Given the description of an element on the screen output the (x, y) to click on. 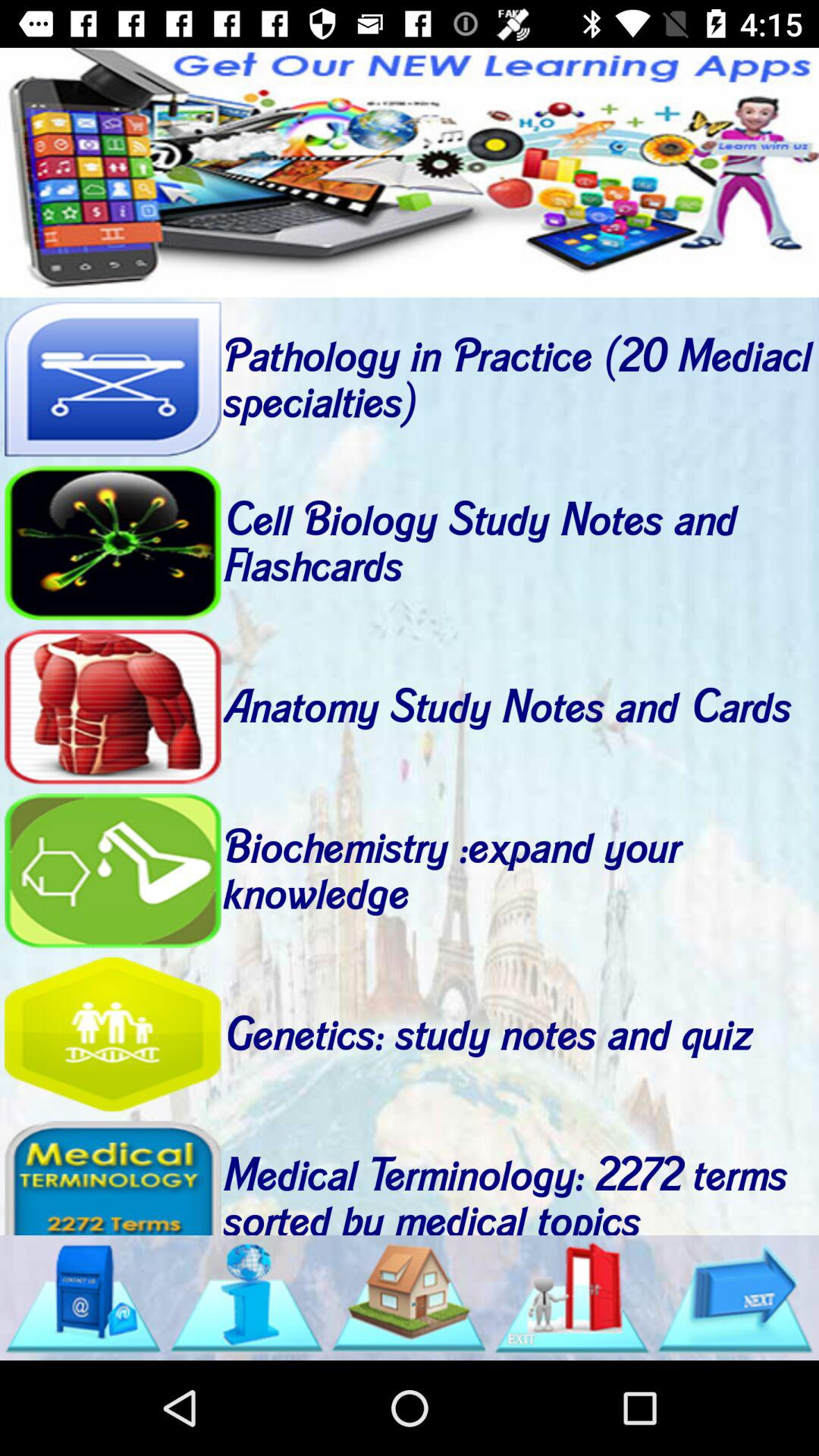
open more study notes (571, 1297)
